Given the description of an element on the screen output the (x, y) to click on. 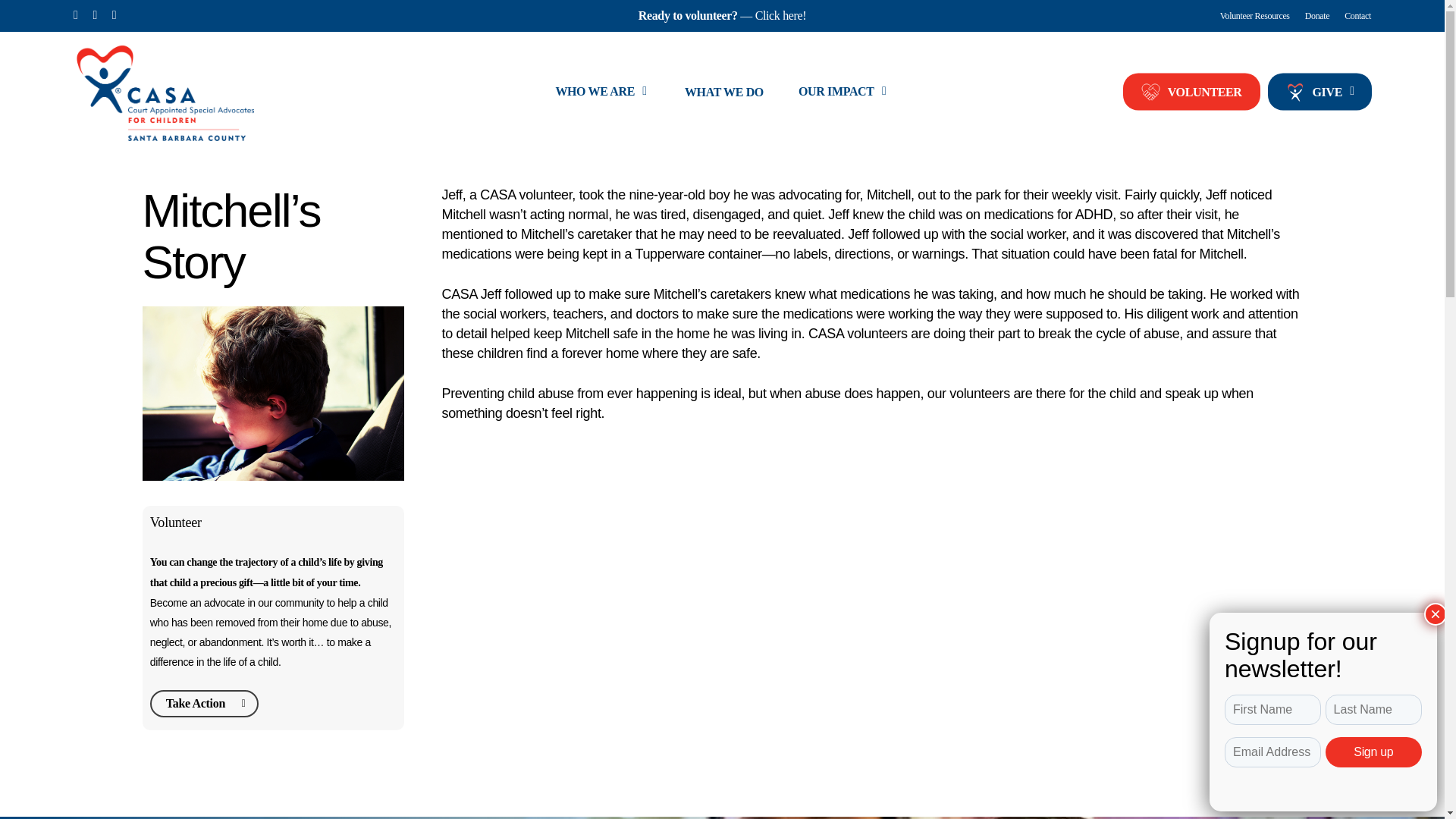
Take Action (204, 703)
WHAT WE DO (723, 91)
Sign up (1373, 752)
Contact (1357, 15)
WHO WE ARE (601, 91)
Donate (1317, 15)
OUR IMPACT (843, 91)
Volunteer Resources (1255, 15)
VOLUNTEER (1191, 90)
GIVE (1319, 90)
